Given the description of an element on the screen output the (x, y) to click on. 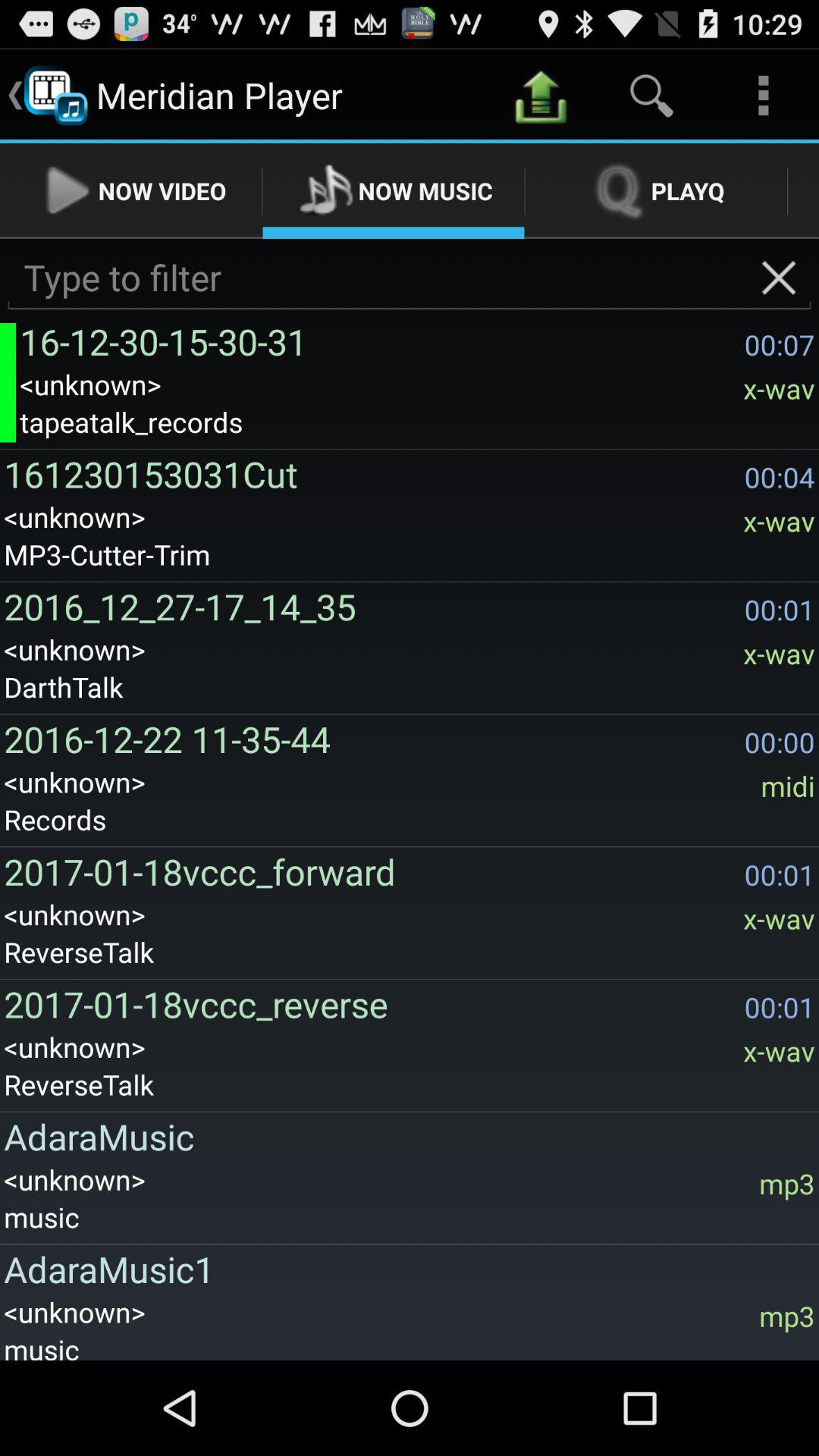
close (778, 277)
